Given the description of an element on the screen output the (x, y) to click on. 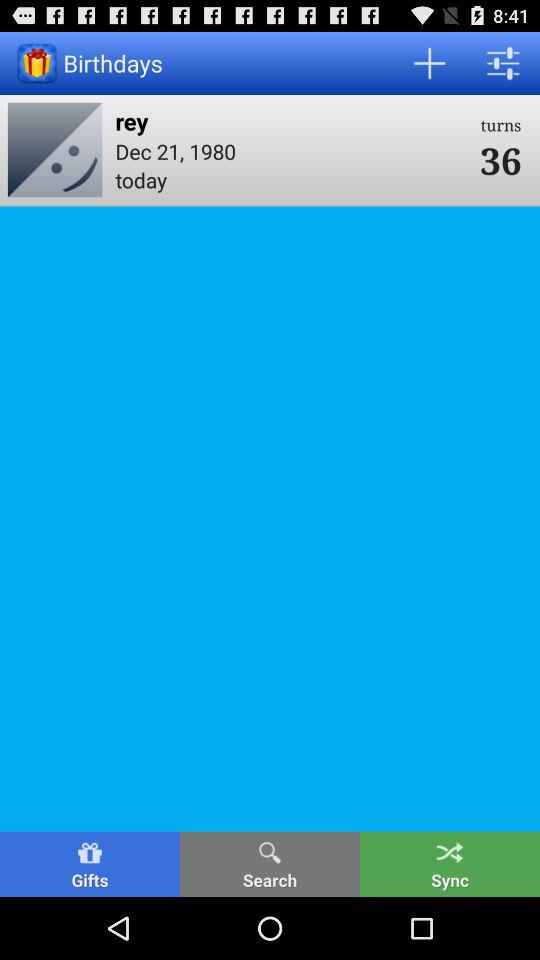
tap today app (291, 179)
